Given the description of an element on the screen output the (x, y) to click on. 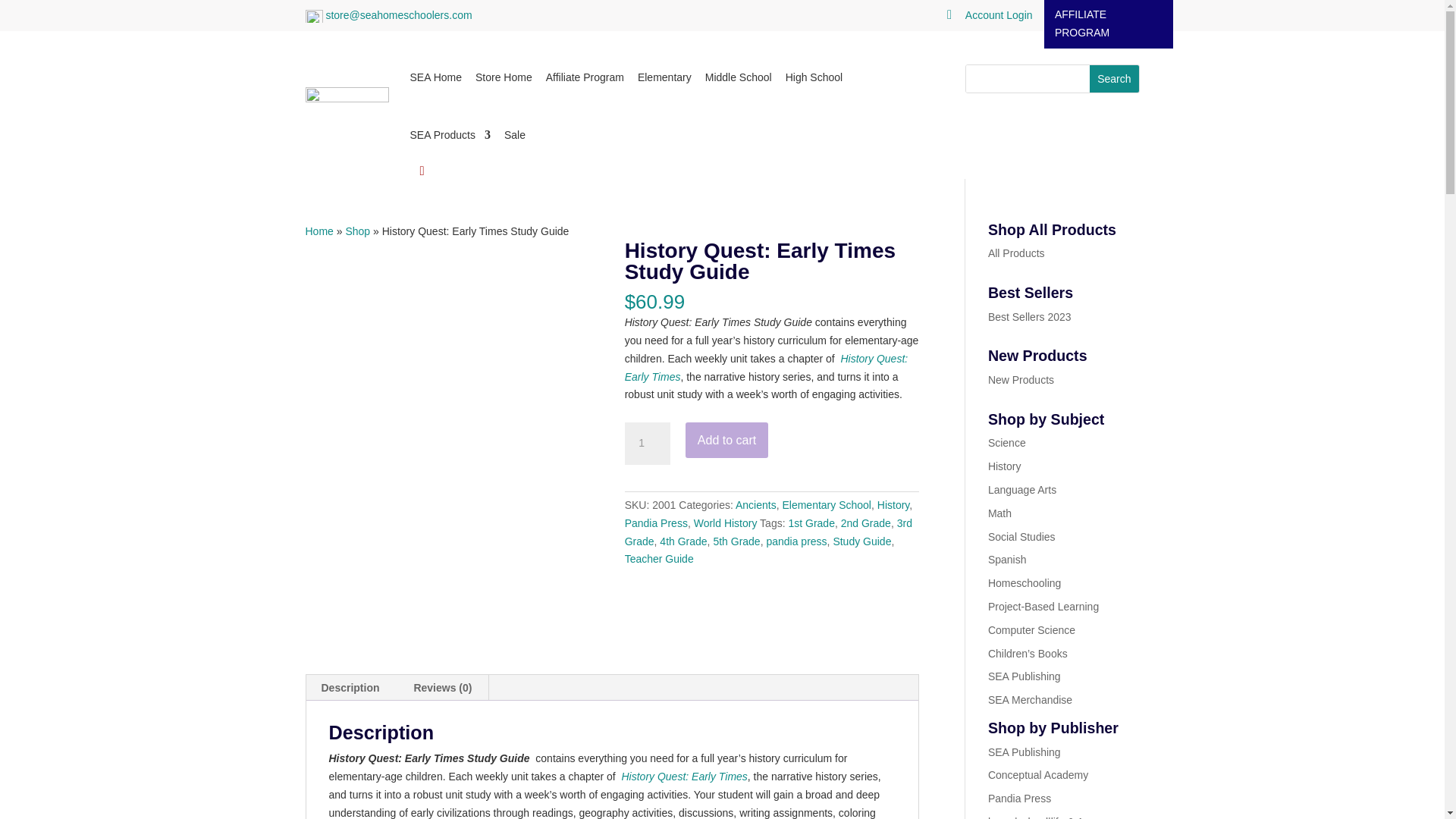
1 (646, 443)
World History (725, 522)
Ancients (755, 504)
AFFILIATE PROGRAM (1108, 24)
Search (1113, 78)
High School (814, 77)
pandia press (796, 541)
Elementary (664, 77)
Home (318, 231)
4th Grade (682, 541)
